Given the description of an element on the screen output the (x, y) to click on. 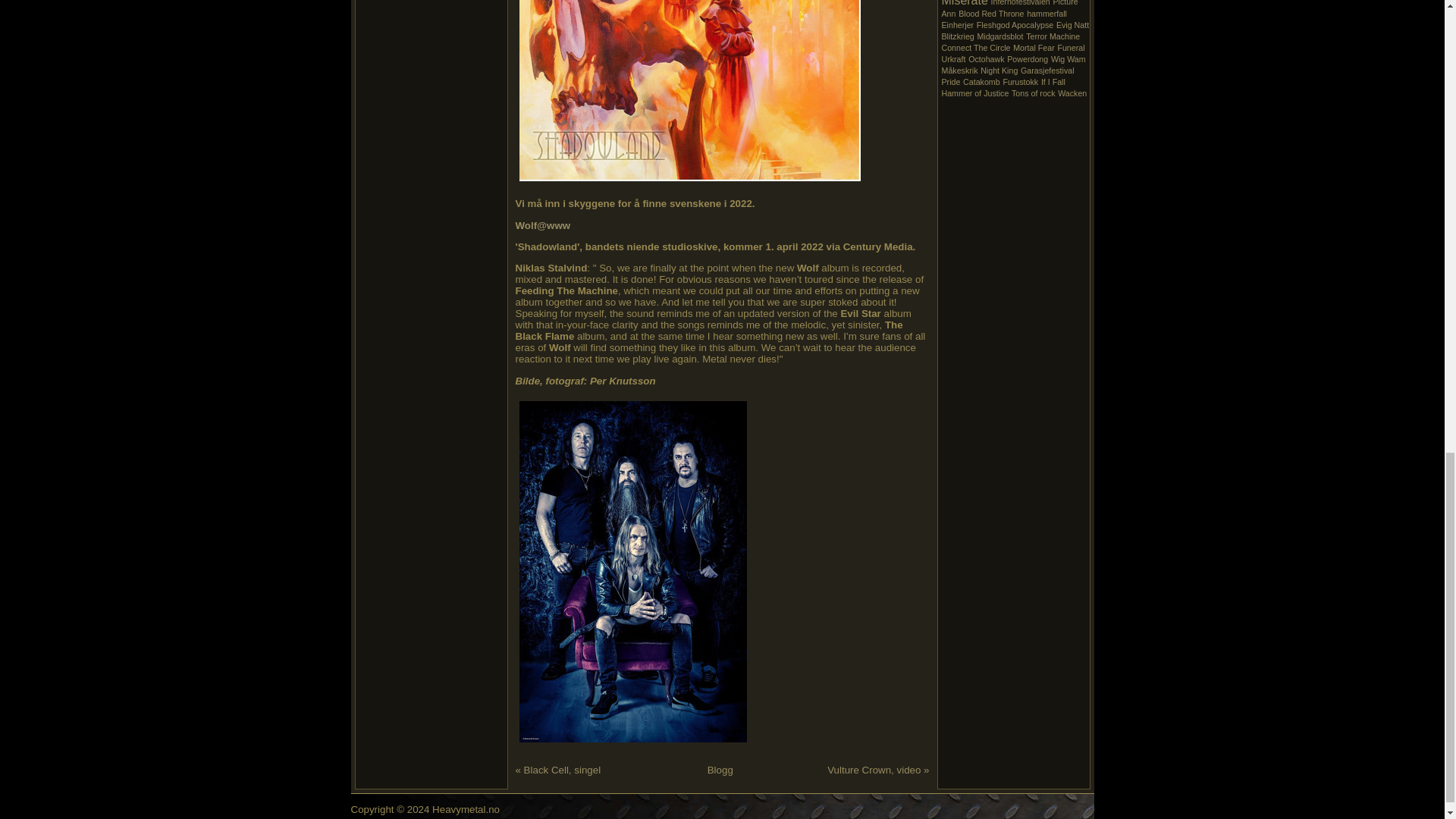
Miserate (965, 3)
Francesco Marras 24 (387, 11)
Blogg (720, 770)
Infernofestivalen (1020, 2)
Picture Ann (1010, 9)
Blood Red Throne (990, 13)
hammerfall (1046, 13)
Wolf 21 Fotograf Per Knutsson (632, 571)
Wolf 22 (689, 90)
